Given the description of an element on the screen output the (x, y) to click on. 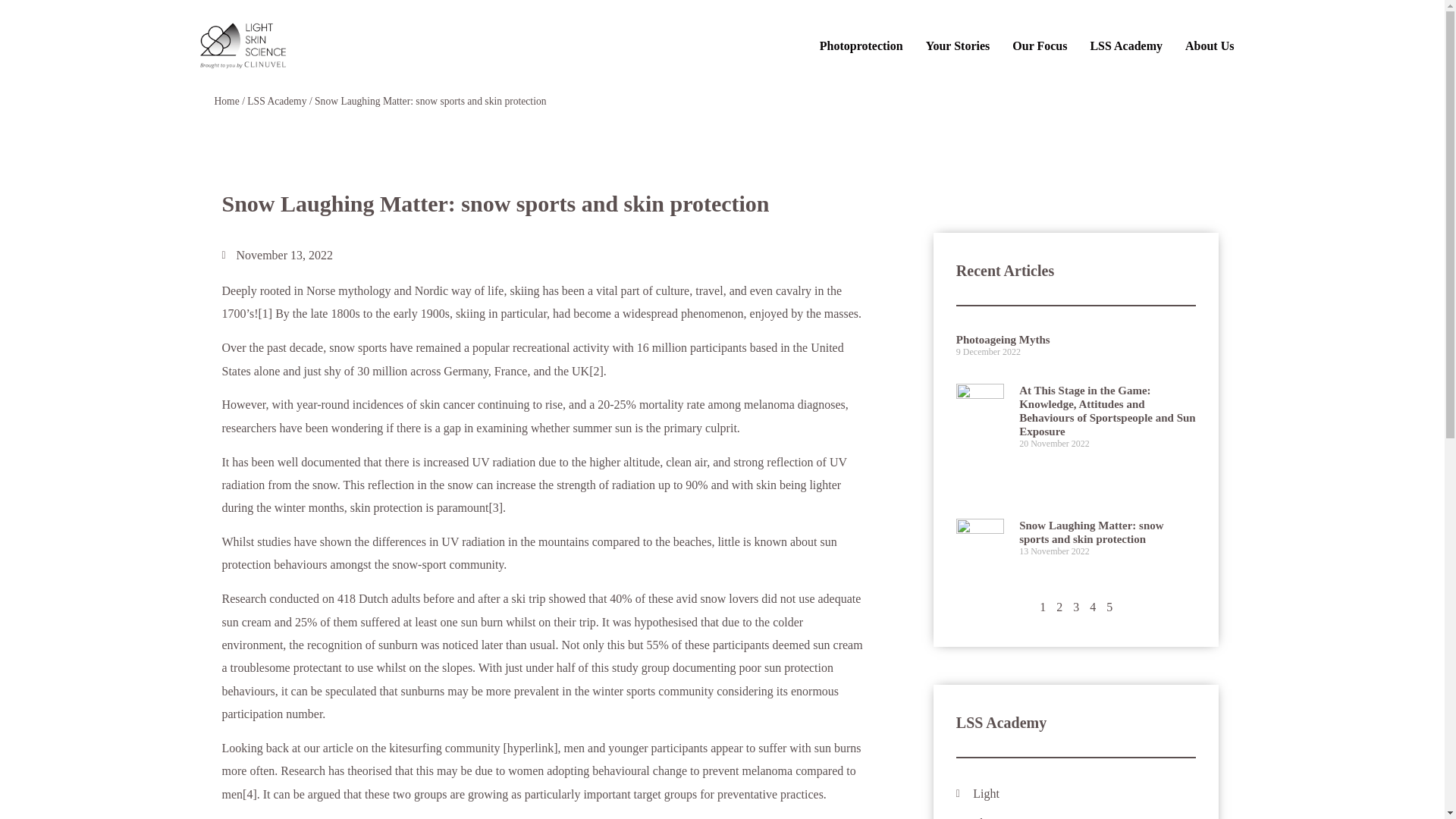
Skin (1076, 816)
Photoprotection (861, 45)
Home (226, 101)
Snow Laughing Matter: snow sports and skin protection (1091, 532)
About Us (1208, 45)
Our Focus (1039, 45)
LSS Academy (1125, 45)
November 13, 2022 (277, 255)
LSS Academy (276, 101)
